Given the description of an element on the screen output the (x, y) to click on. 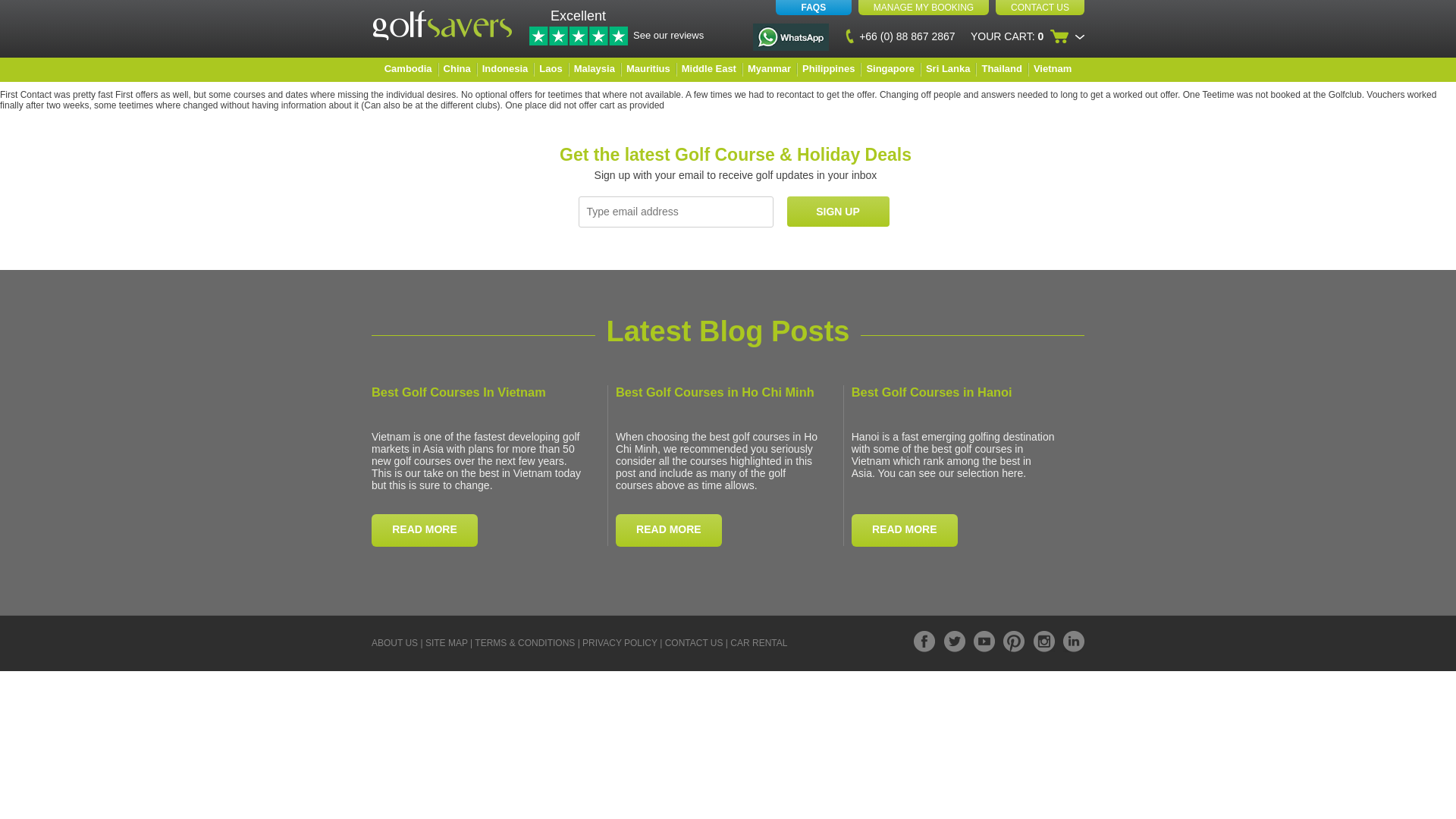
SIGN UP (838, 211)
4.8 Stars: Excellent (578, 35)
